Given the description of an element on the screen output the (x, y) to click on. 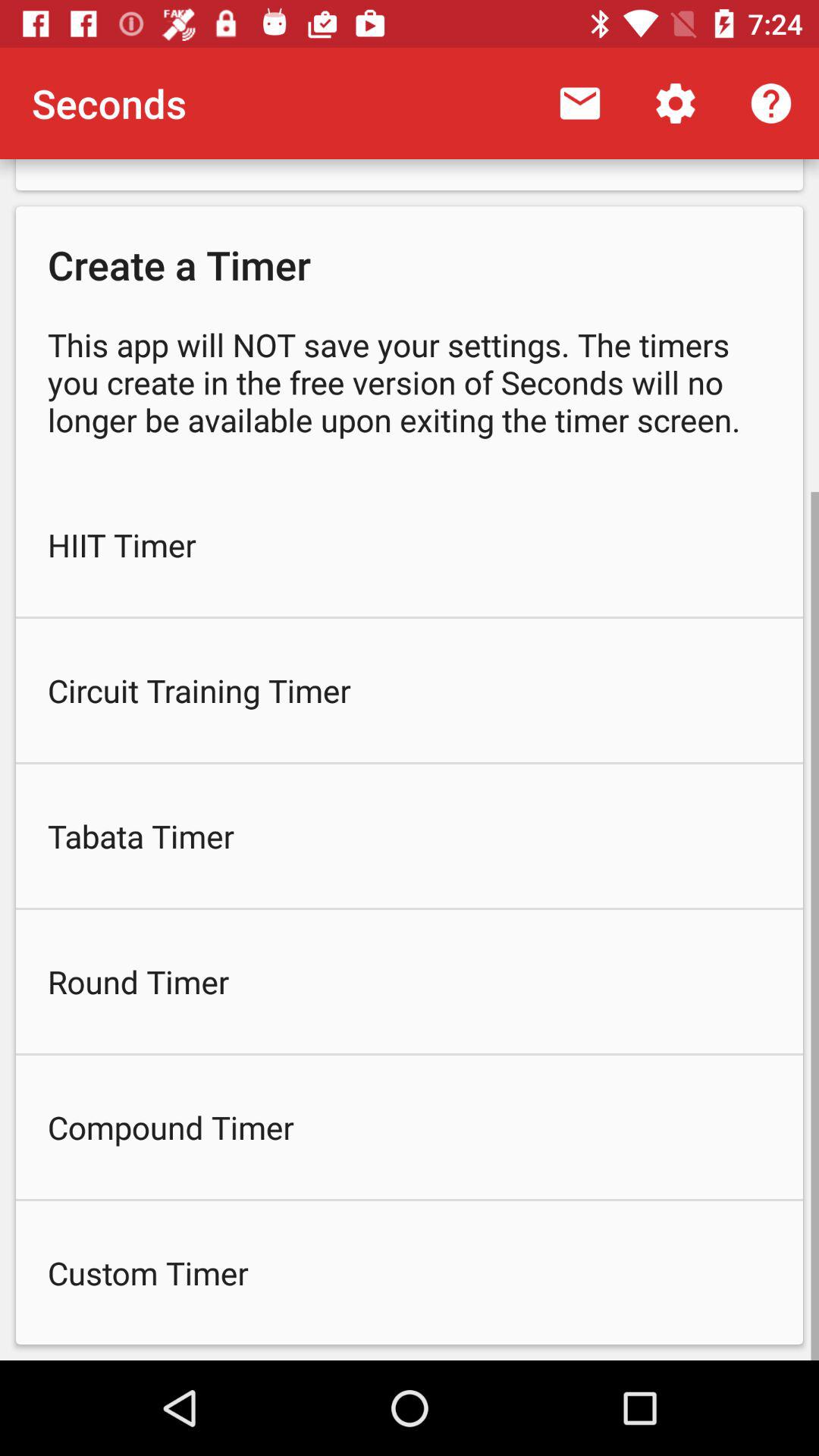
tap the item below the this app will (409, 544)
